Given the description of an element on the screen output the (x, y) to click on. 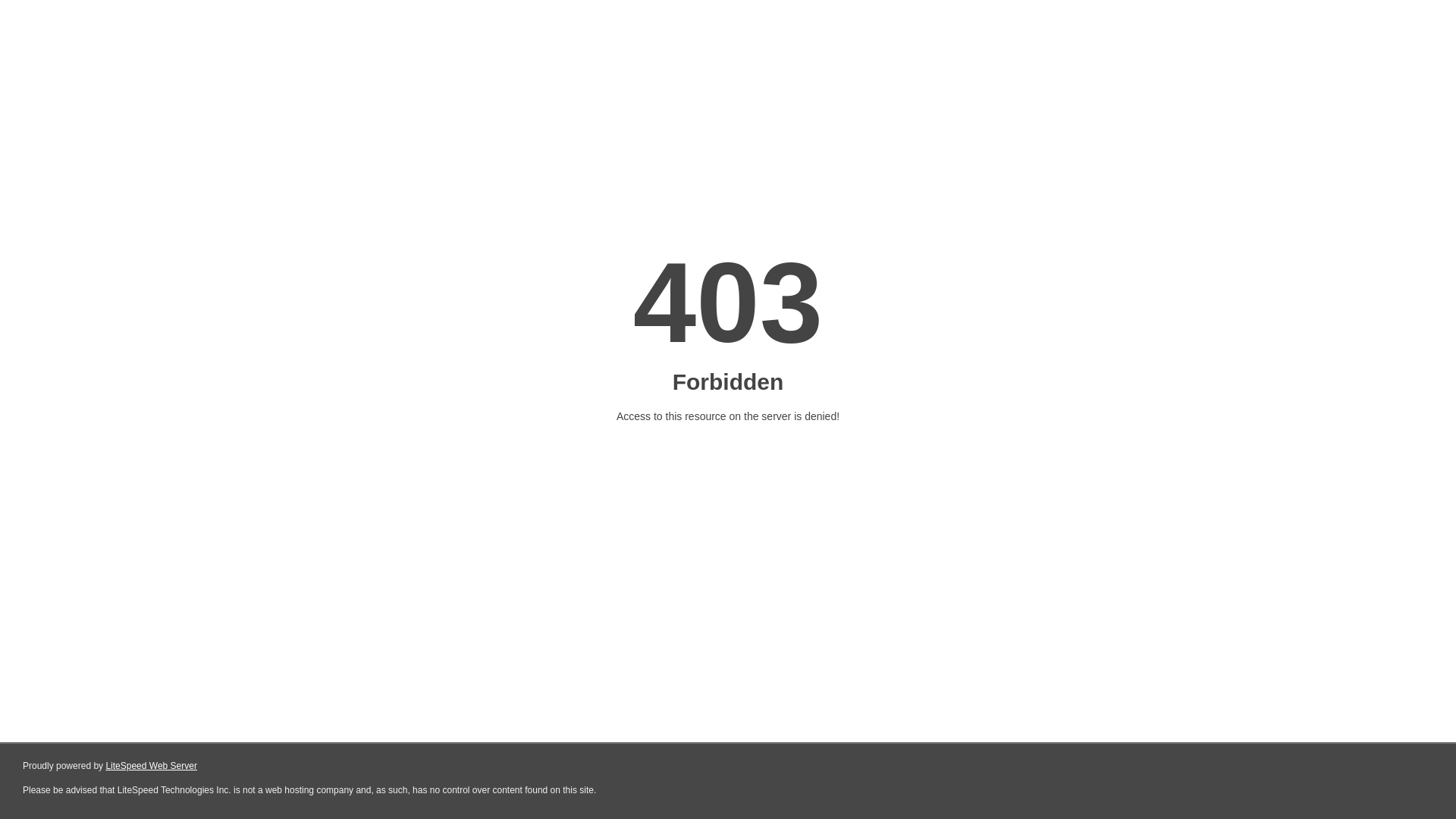
LiteSpeed Web Server Element type: text (151, 765)
